Given the description of an element on the screen output the (x, y) to click on. 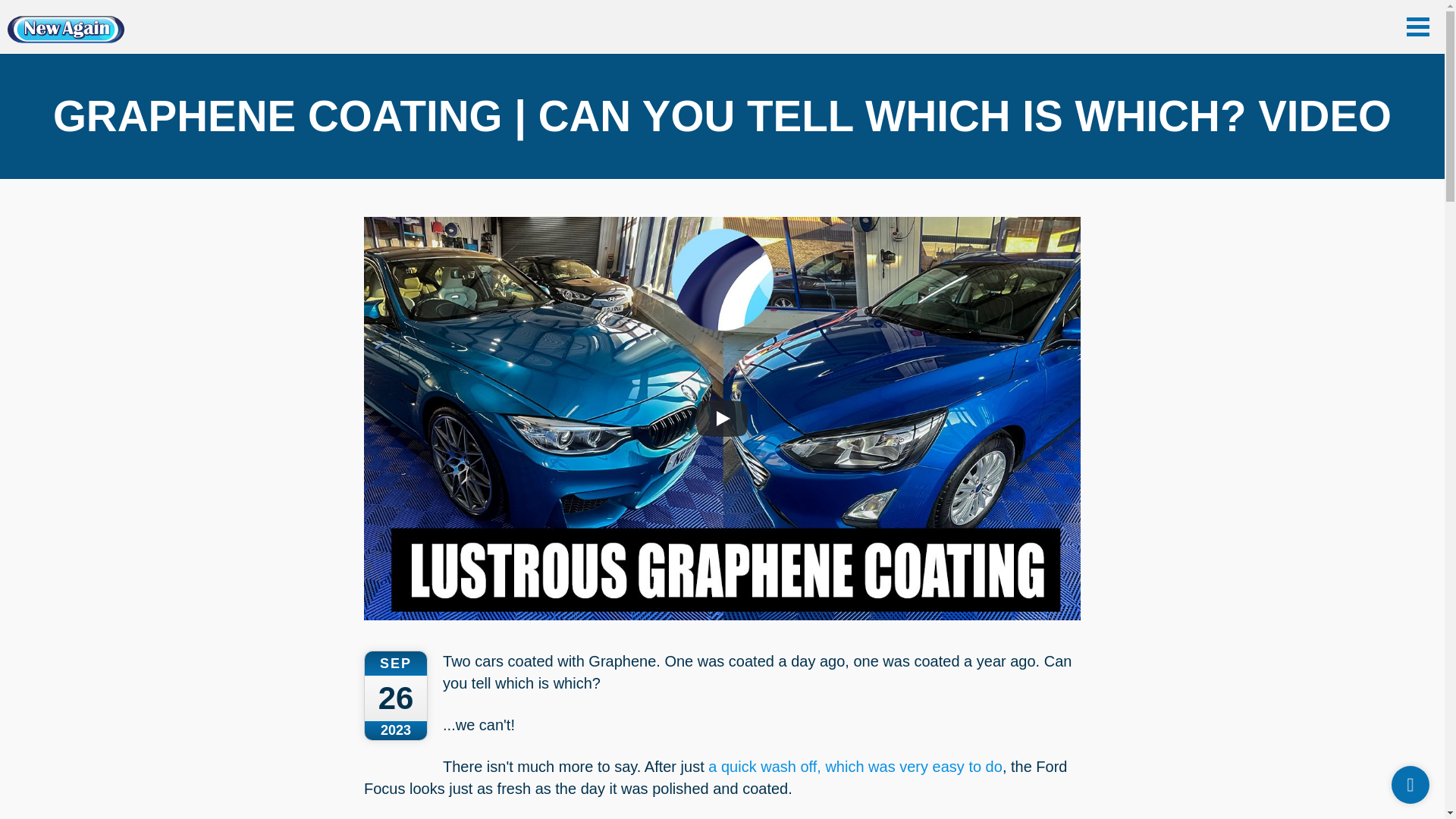
a quick wash off, which was very easy to do (855, 766)
Phone (1410, 784)
Menu (1417, 26)
